Given the description of an element on the screen output the (x, y) to click on. 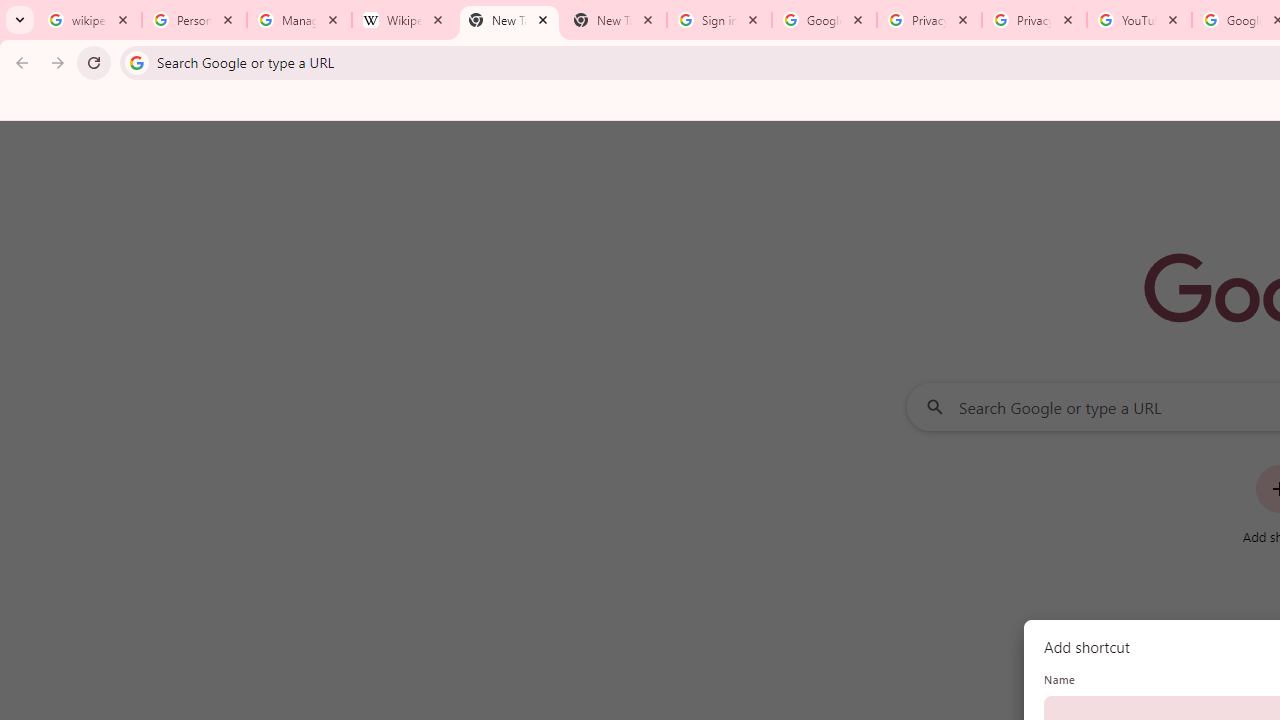
New Tab (613, 20)
Google Drive: Sign-in (823, 20)
